Given the description of an element on the screen output the (x, y) to click on. 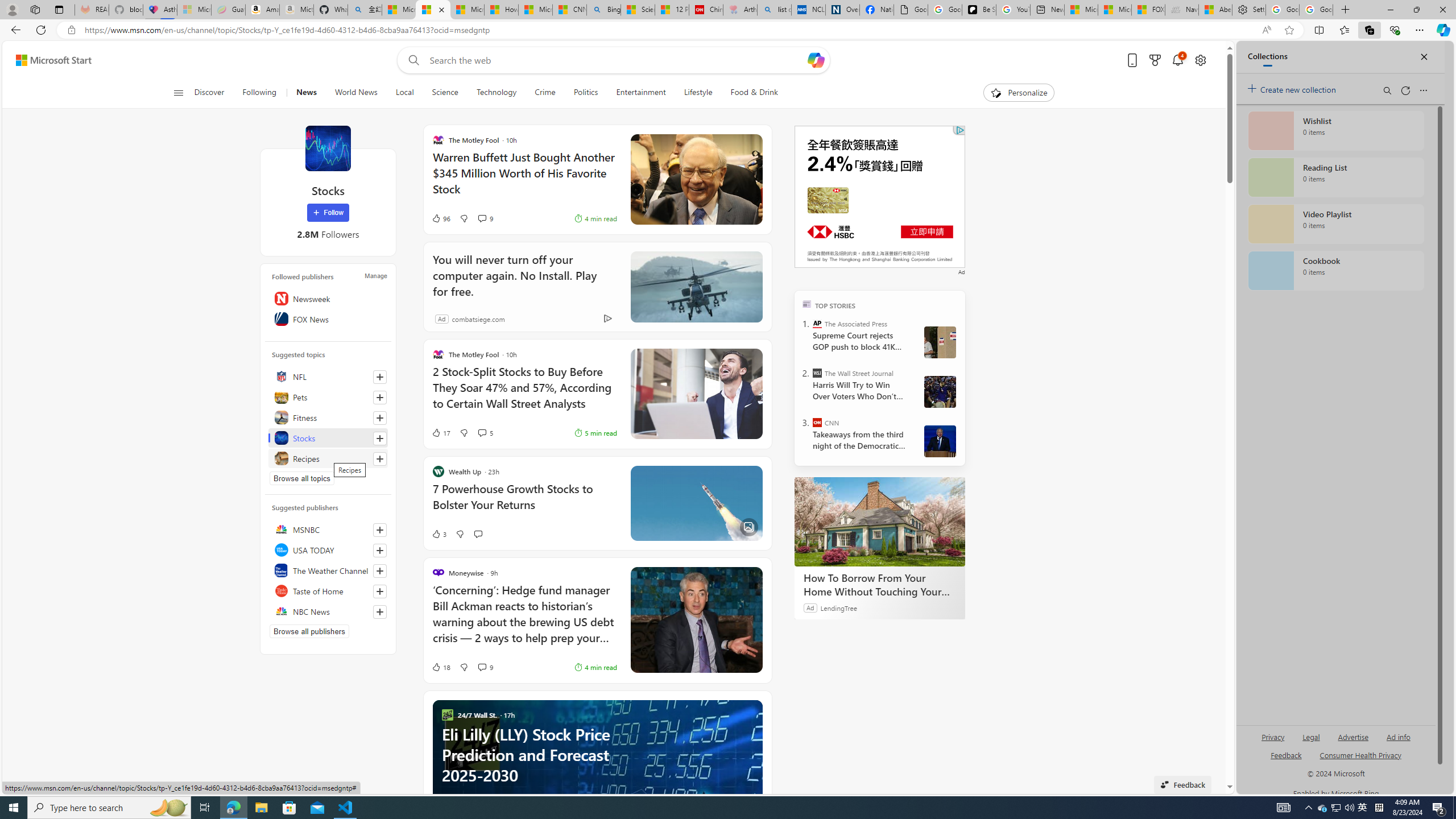
View comments 9 Comment (481, 666)
View comments 5 Comment (481, 432)
Bill Ackman on brewing US debt crisis (696, 619)
Stocks (327, 437)
The Wall Street Journal (816, 372)
18 Like (440, 667)
